Given the description of an element on the screen output the (x, y) to click on. 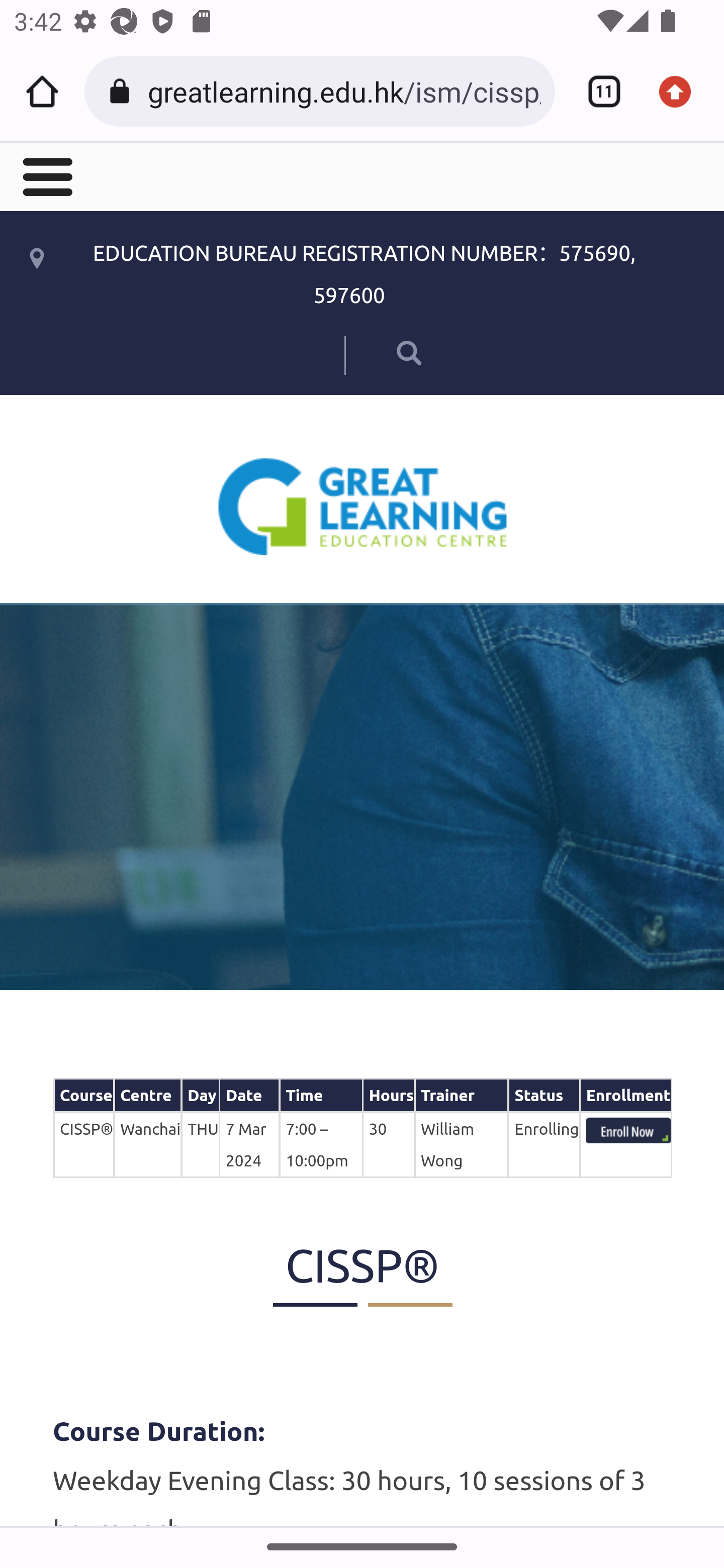
Home (42, 91)
Connection is secure (122, 91)
Switch or close tabs (597, 91)
Update available. More options (681, 91)
 (45, 175)
 (382, 351)
Welcome to Great Learning Education Centre (362, 505)
index (627, 1130)
